Given the description of an element on the screen output the (x, y) to click on. 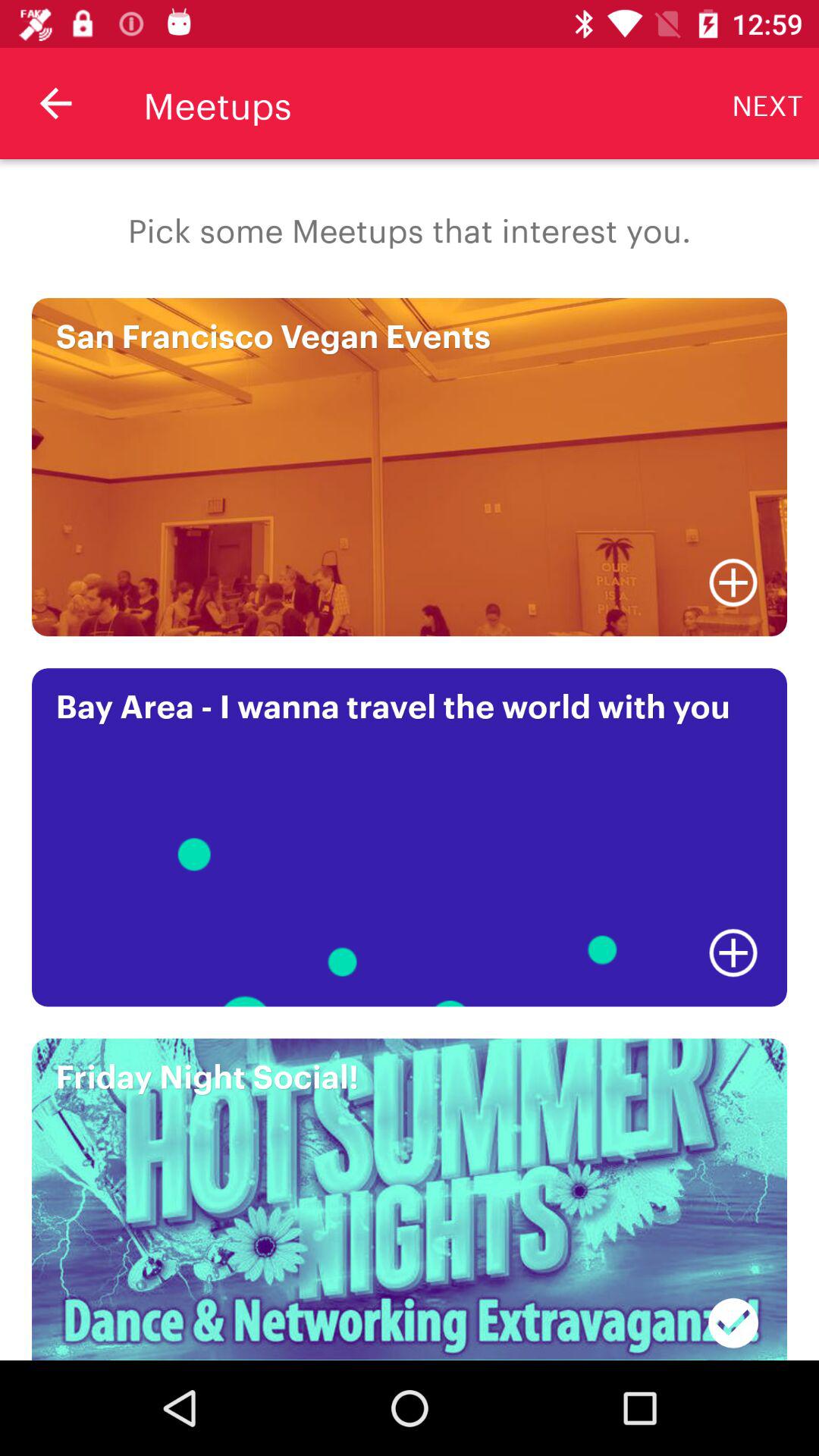
choose icon below the san francisco vegan icon (733, 582)
